Given the description of an element on the screen output the (x, y) to click on. 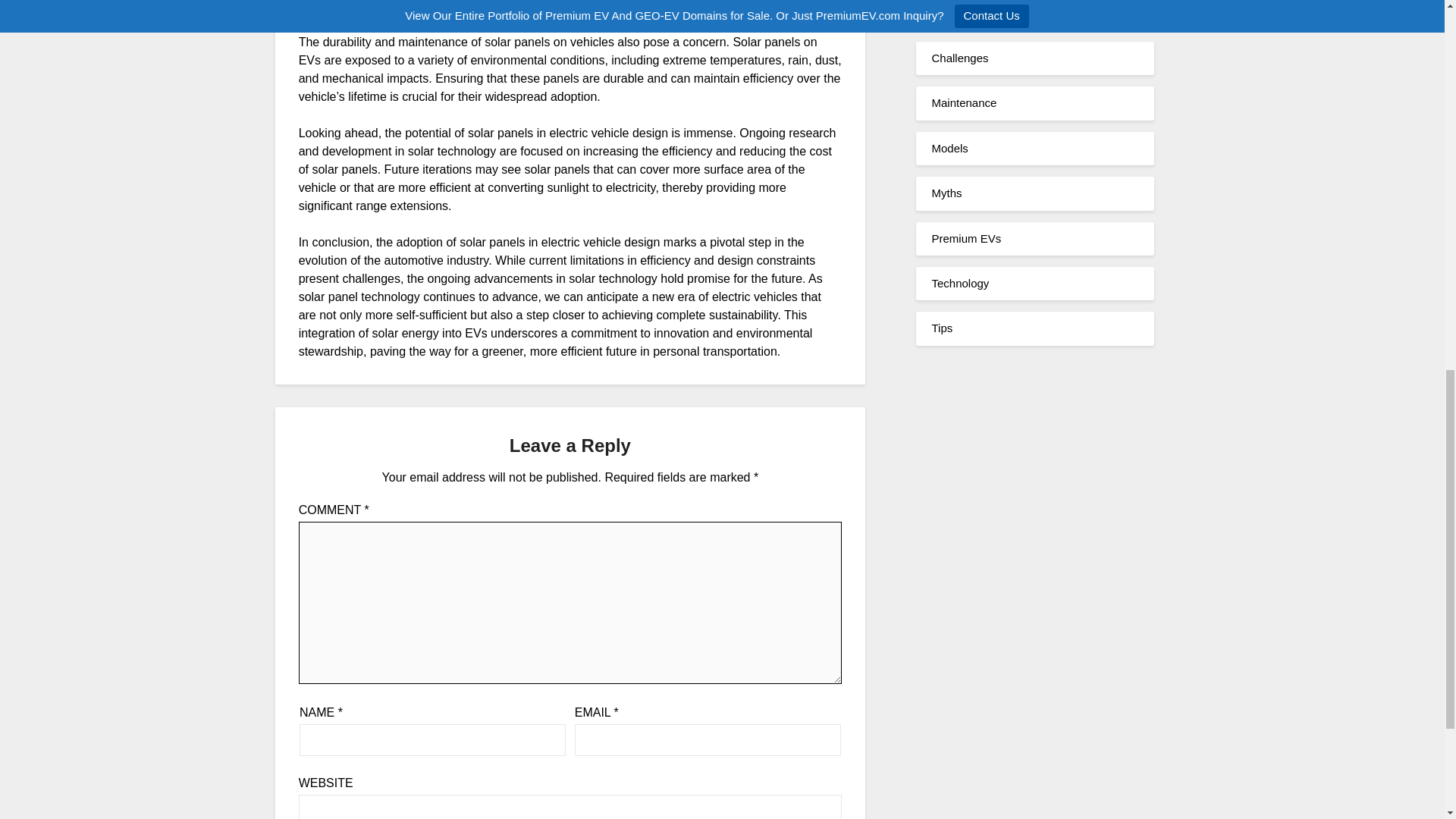
Challenges (959, 57)
Models (949, 147)
Myths (945, 192)
Premium EVs (966, 237)
Technology (959, 282)
Maintenance (963, 102)
Tips (941, 327)
